Given the description of an element on the screen output the (x, y) to click on. 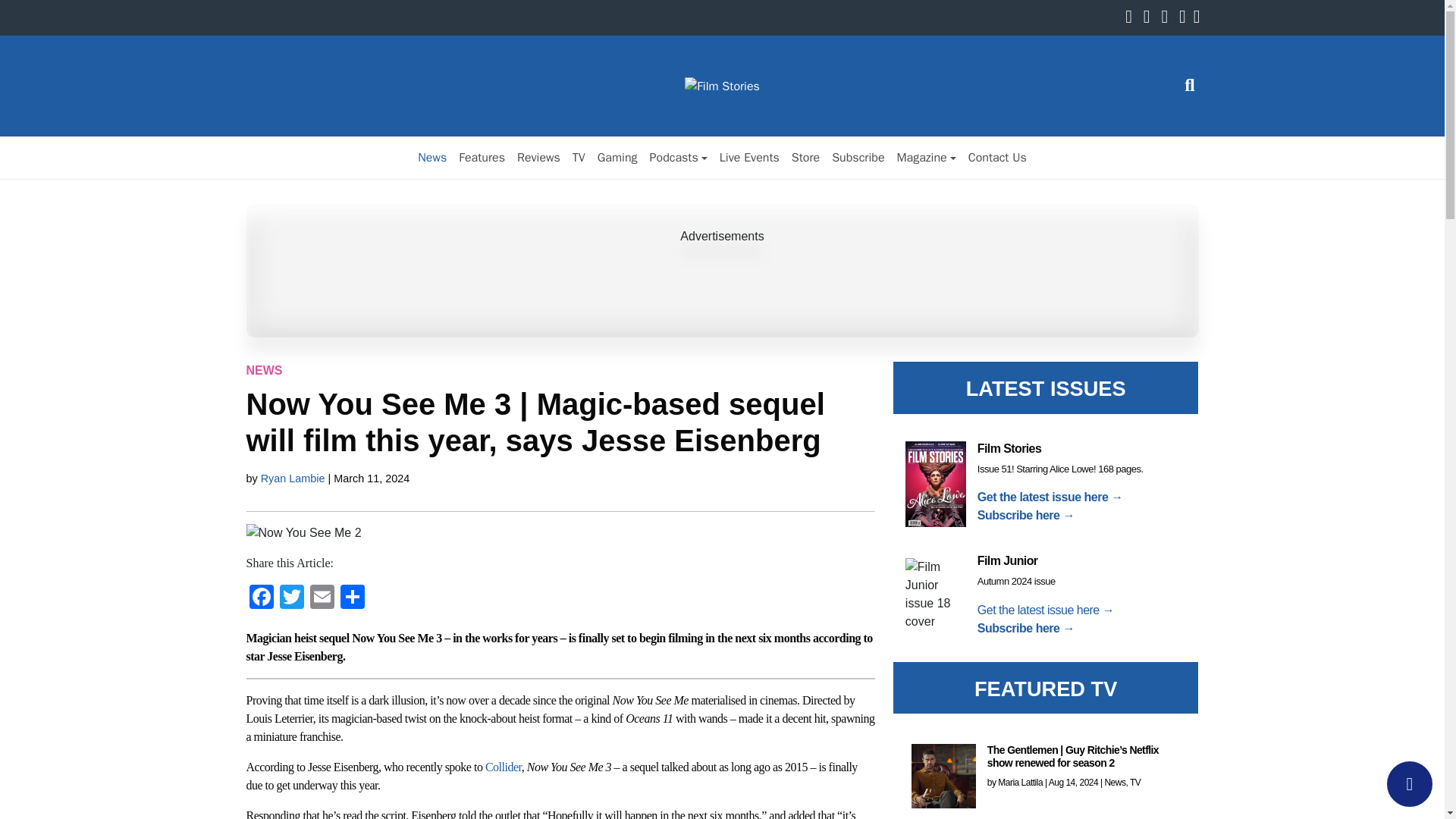
Twitter (290, 600)
Follow us on Youtube (1186, 18)
Live Events (749, 157)
Facebook (261, 600)
Email (320, 600)
Collider (502, 766)
Magazine (924, 157)
Features (481, 157)
Share (351, 600)
Follow us on Instagram (1167, 18)
